Given the description of an element on the screen output the (x, y) to click on. 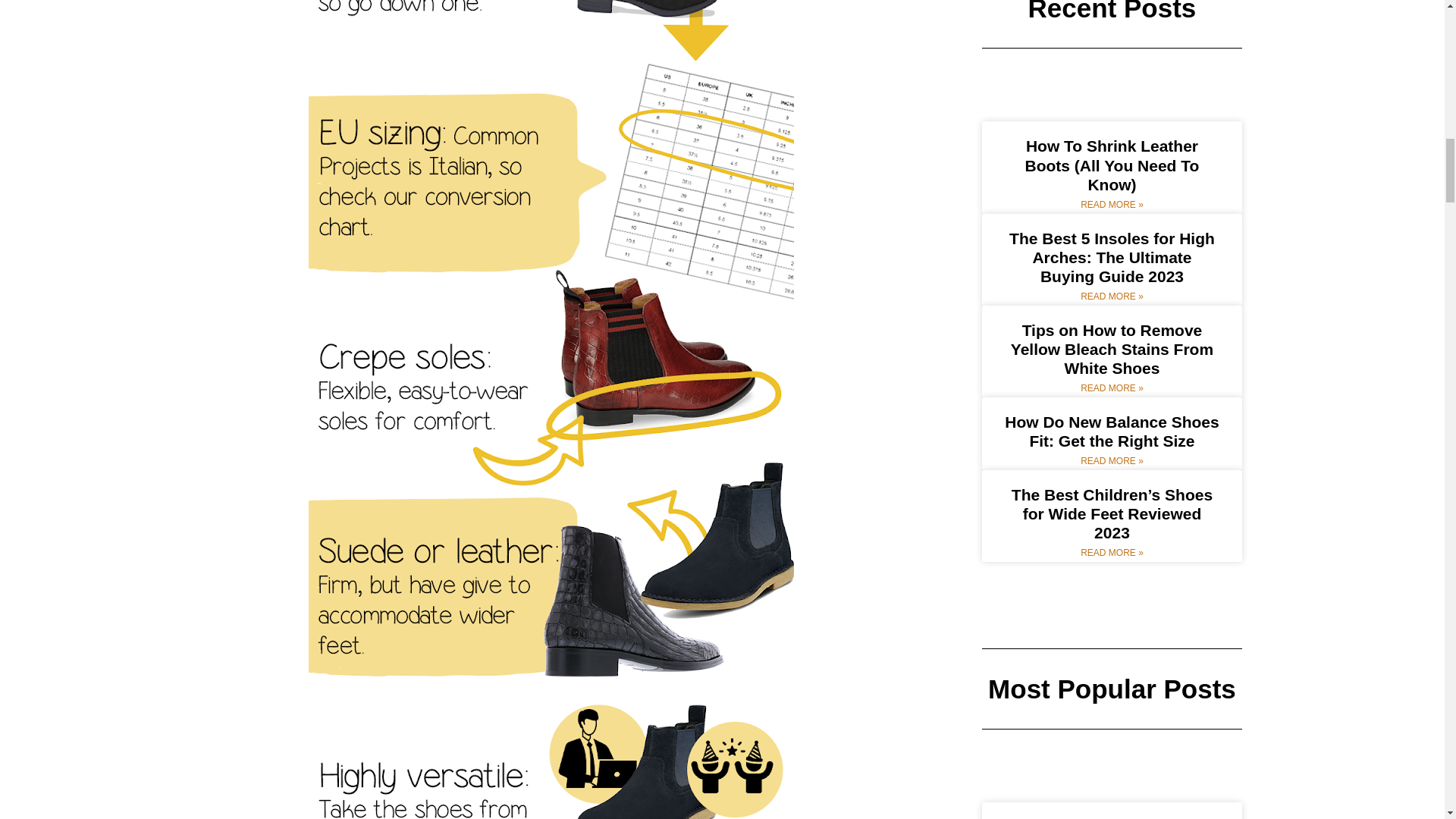
How Do New Balance Shoes Fit: Get the Right Size (1111, 431)
Tips on How to Remove Yellow Bleach Stains From White Shoes (1111, 348)
